Given the description of an element on the screen output the (x, y) to click on. 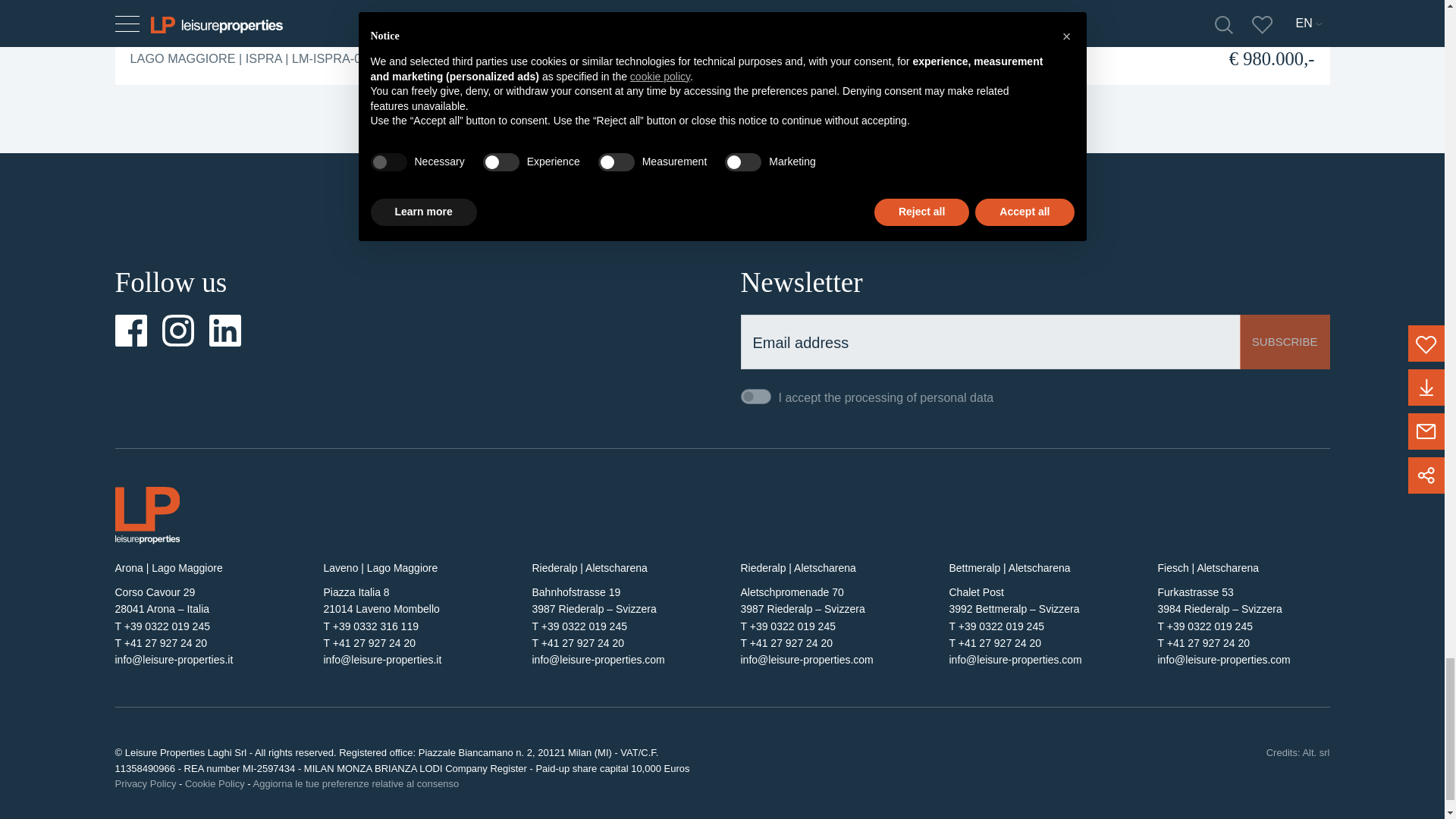
Villa Ispra (179, 12)
Villa Gavirate (819, 12)
SUBSCRIBE (1285, 341)
on (754, 396)
